Given the description of an element on the screen output the (x, y) to click on. 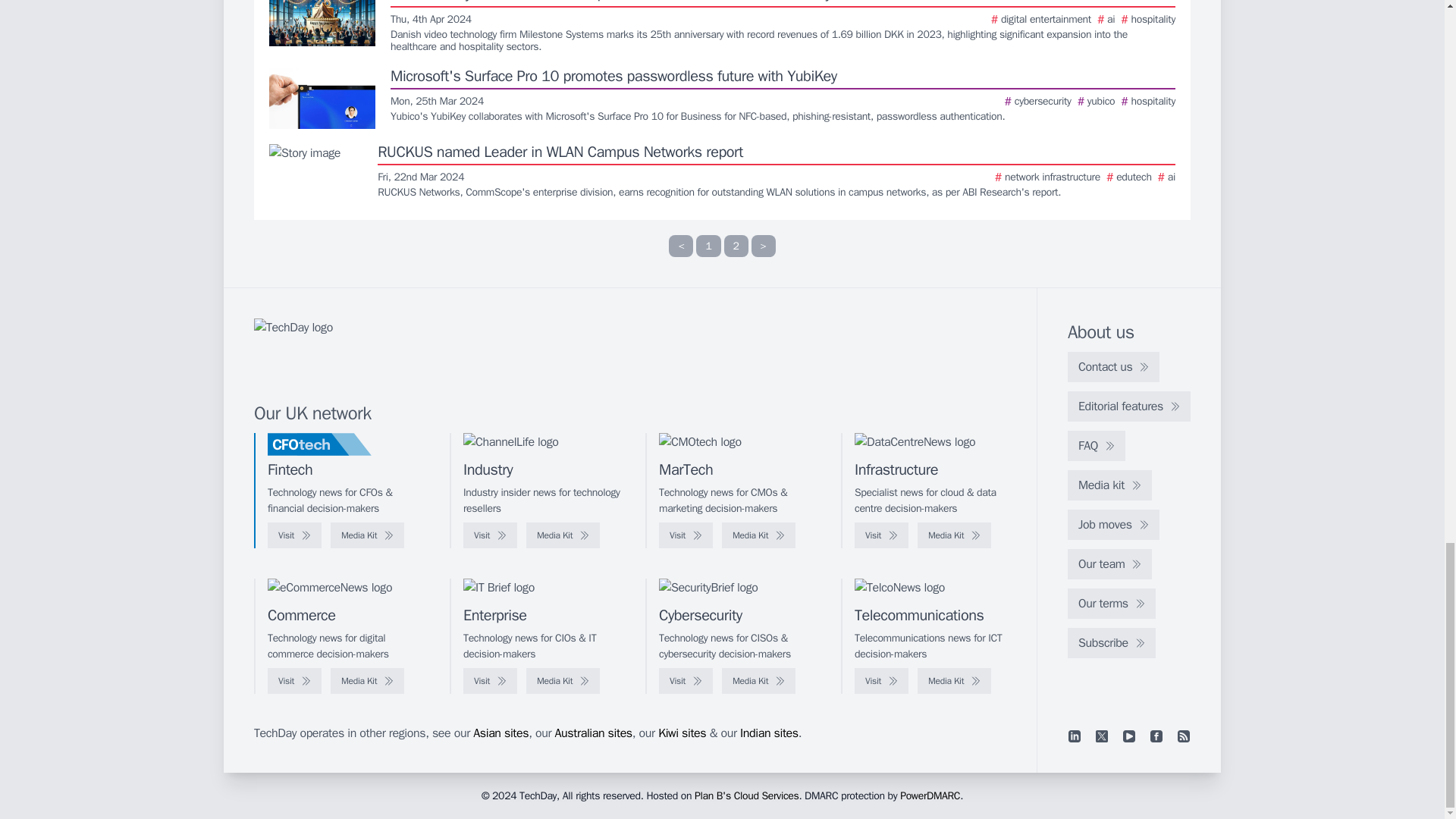
Visit (294, 534)
Media Kit (562, 534)
1 (707, 246)
Visit (489, 534)
2 (735, 246)
Media Kit (367, 534)
